Given the description of an element on the screen output the (x, y) to click on. 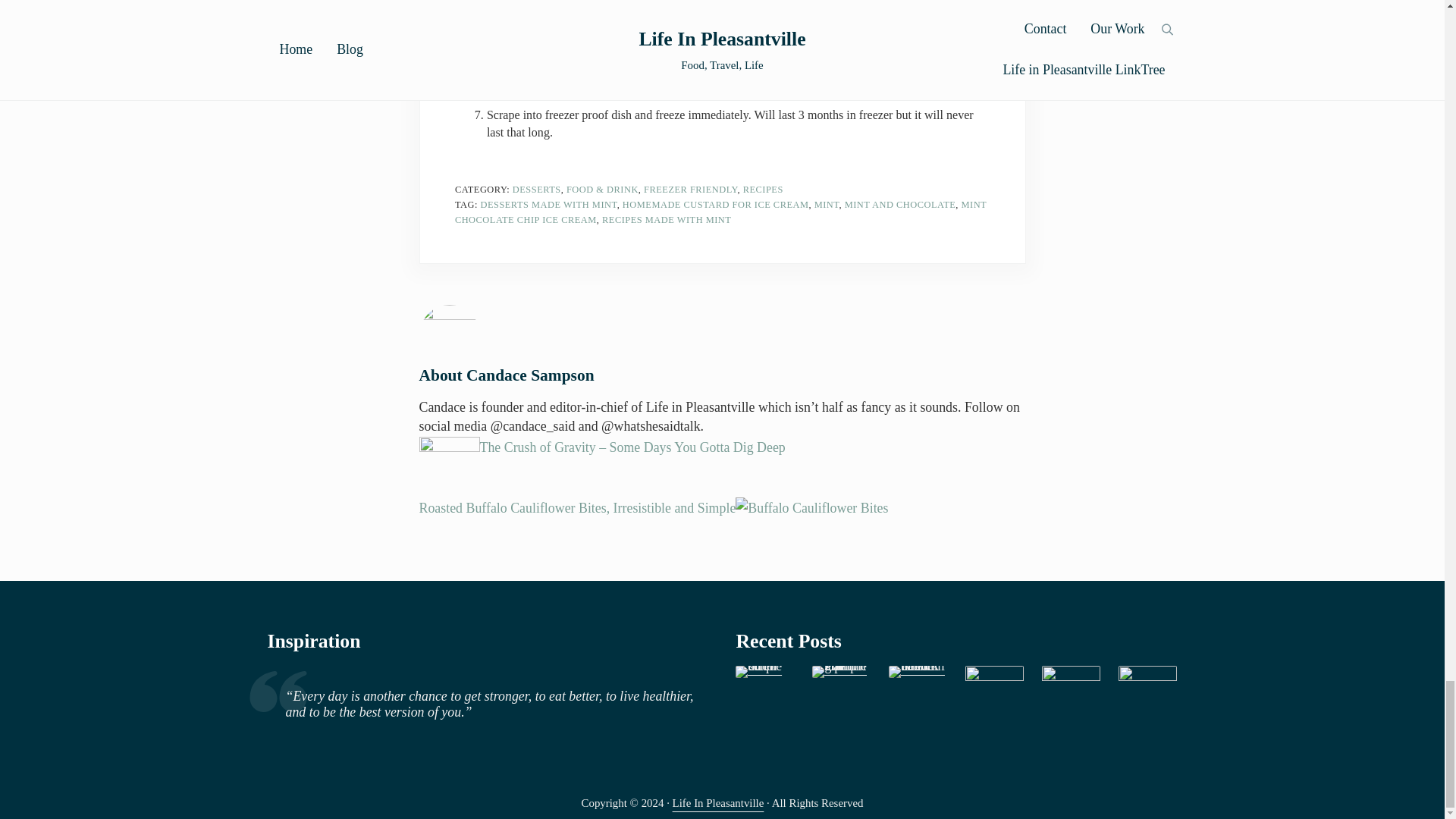
DESSERTS MADE WITH MINT (547, 204)
MINT CHOCOLATE CHIP ICE CREAM (720, 212)
MINT AND CHOCOLATE (900, 204)
HOMEMADE CUSTARD FOR ICE CREAM (716, 204)
DESSERTS (536, 189)
RECIPES (762, 189)
FREEZER FRIENDLY (689, 189)
RECIPES MADE WITH MINT (666, 219)
MINT (826, 204)
